Given the description of an element on the screen output the (x, y) to click on. 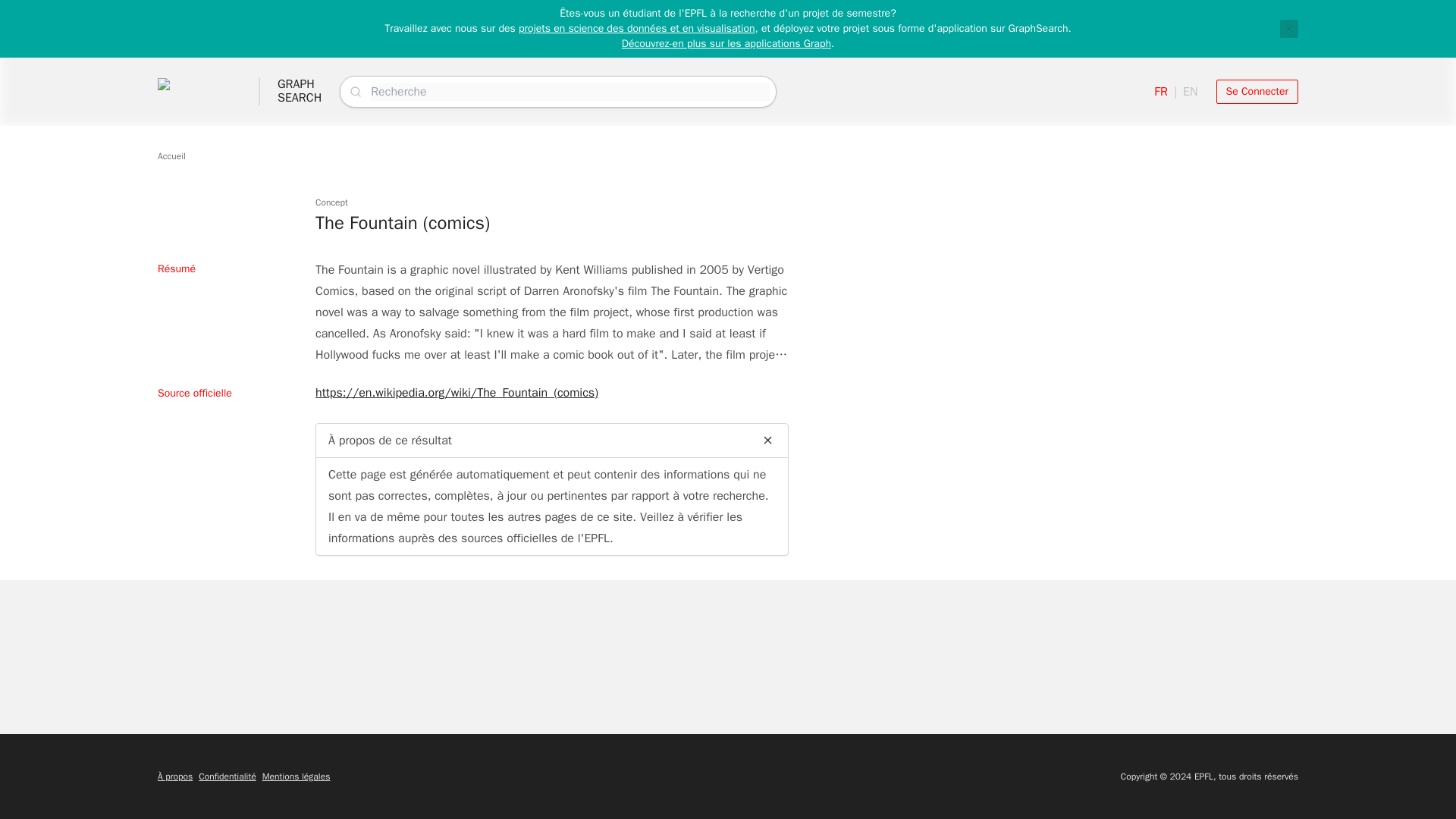
Accueil (171, 155)
Close notification (1288, 28)
Se Connecter (299, 90)
